Given the description of an element on the screen output the (x, y) to click on. 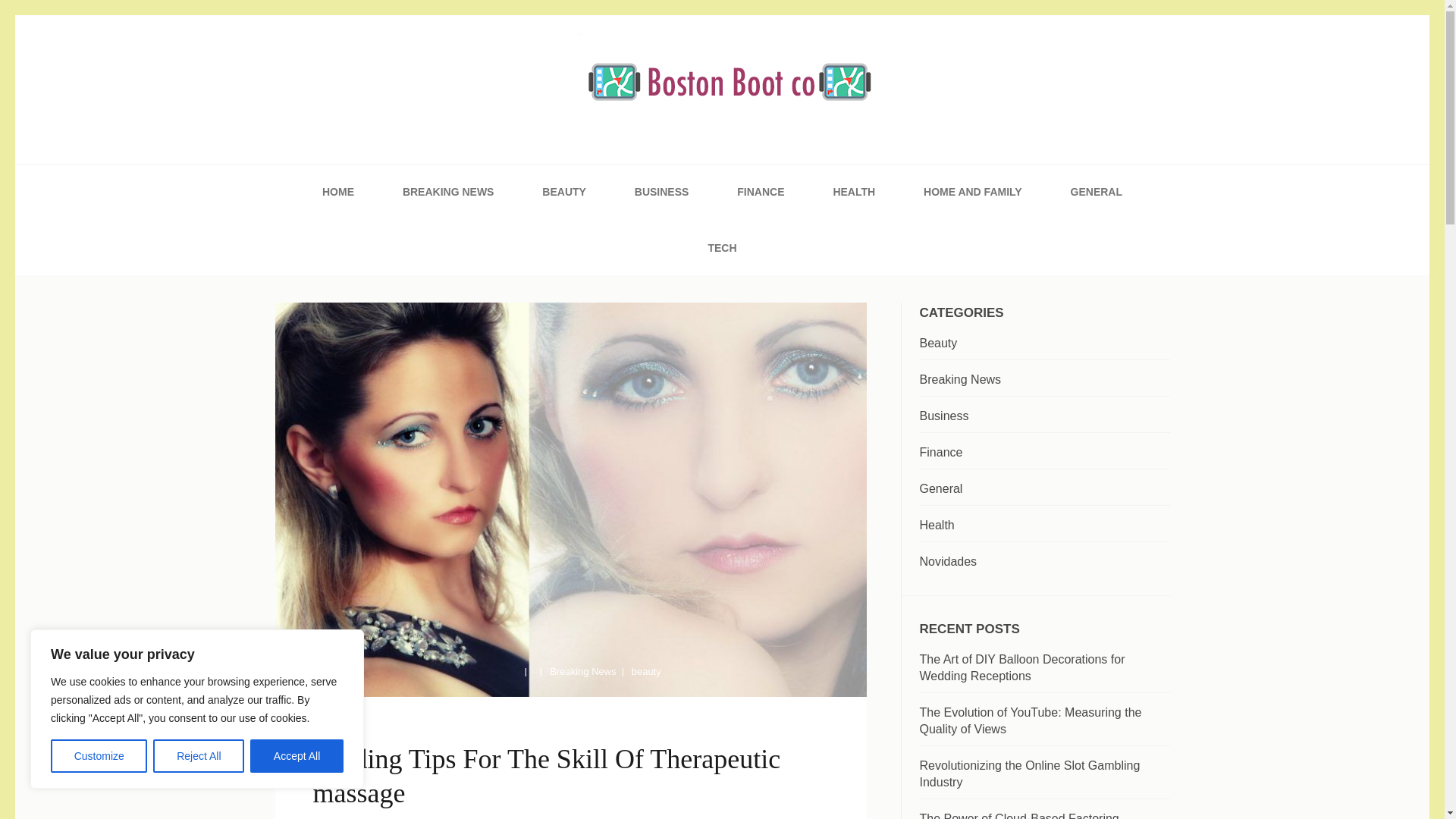
Customize (98, 756)
Boston Boot Co (401, 164)
GENERAL (1096, 191)
HOME AND FAMILY (972, 191)
Accept All (296, 756)
Reject All (198, 756)
BUSINESS (661, 191)
BREAKING NEWS (449, 191)
